Given the description of an element on the screen output the (x, y) to click on. 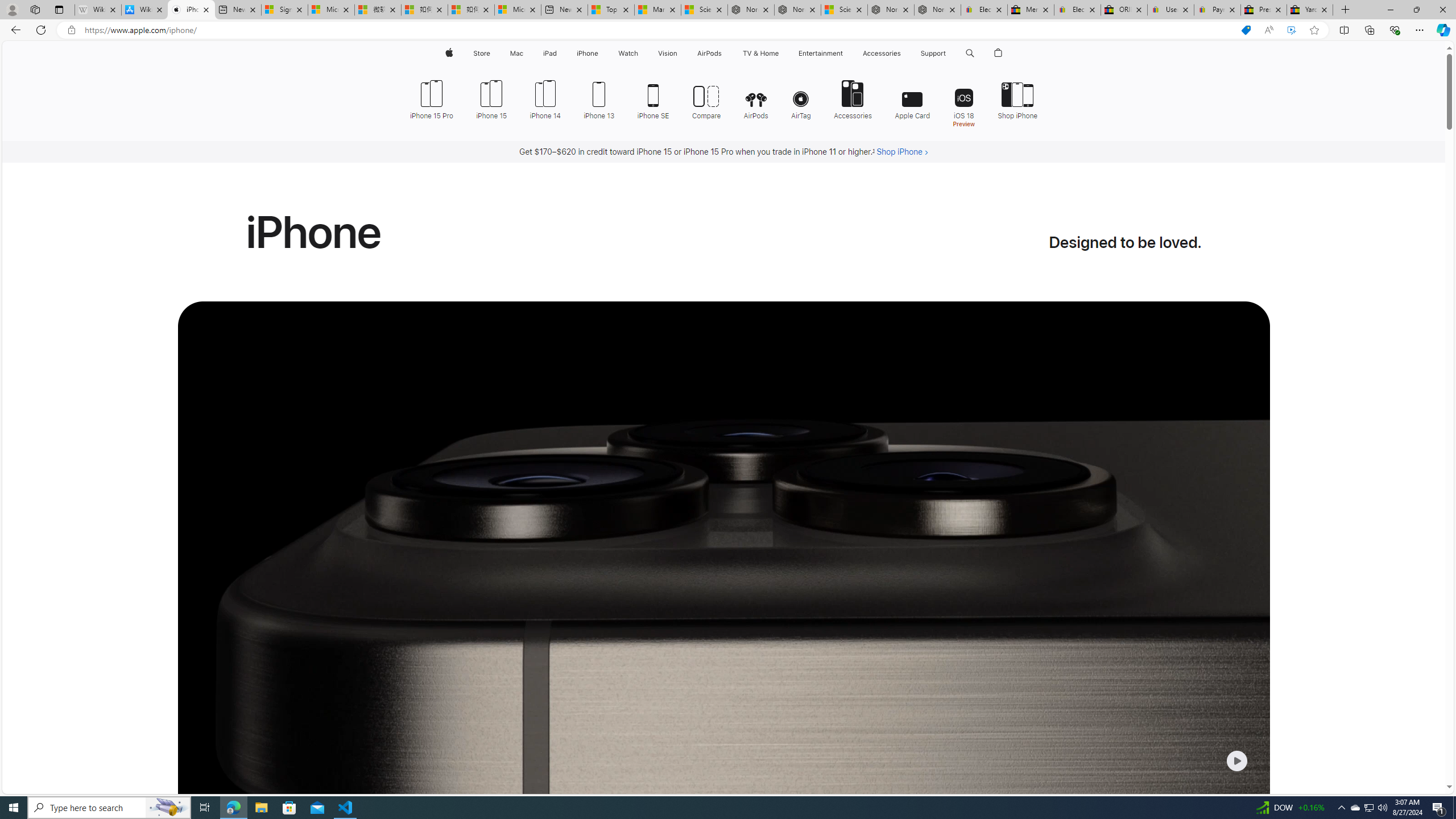
Accessories (852, 98)
AirPods (756, 98)
AirTag (800, 98)
iPhone SE (653, 98)
iPhone 14 (544, 98)
Entertainment menu (844, 53)
Mac (516, 53)
